Given the description of an element on the screen output the (x, y) to click on. 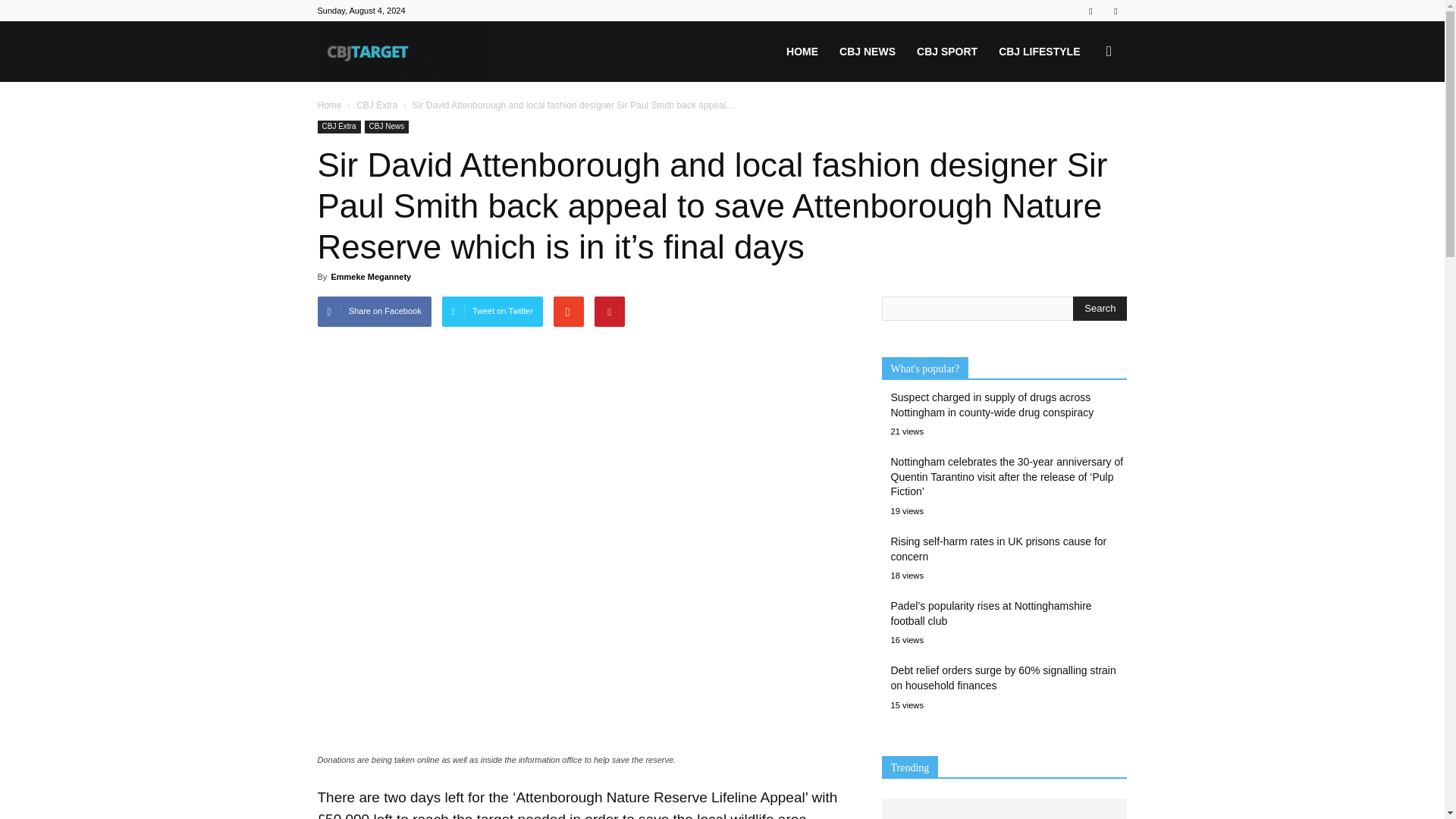
View all posts in CBJ Extra (376, 104)
Search (1099, 308)
CBJ LIFESTYLE (1039, 51)
CBJ Extra (338, 126)
Share on Facebook (373, 311)
Home (328, 104)
CBJ NEWS (866, 51)
Twitter (1114, 10)
Emmeke Megannety (370, 276)
